Given the description of an element on the screen output the (x, y) to click on. 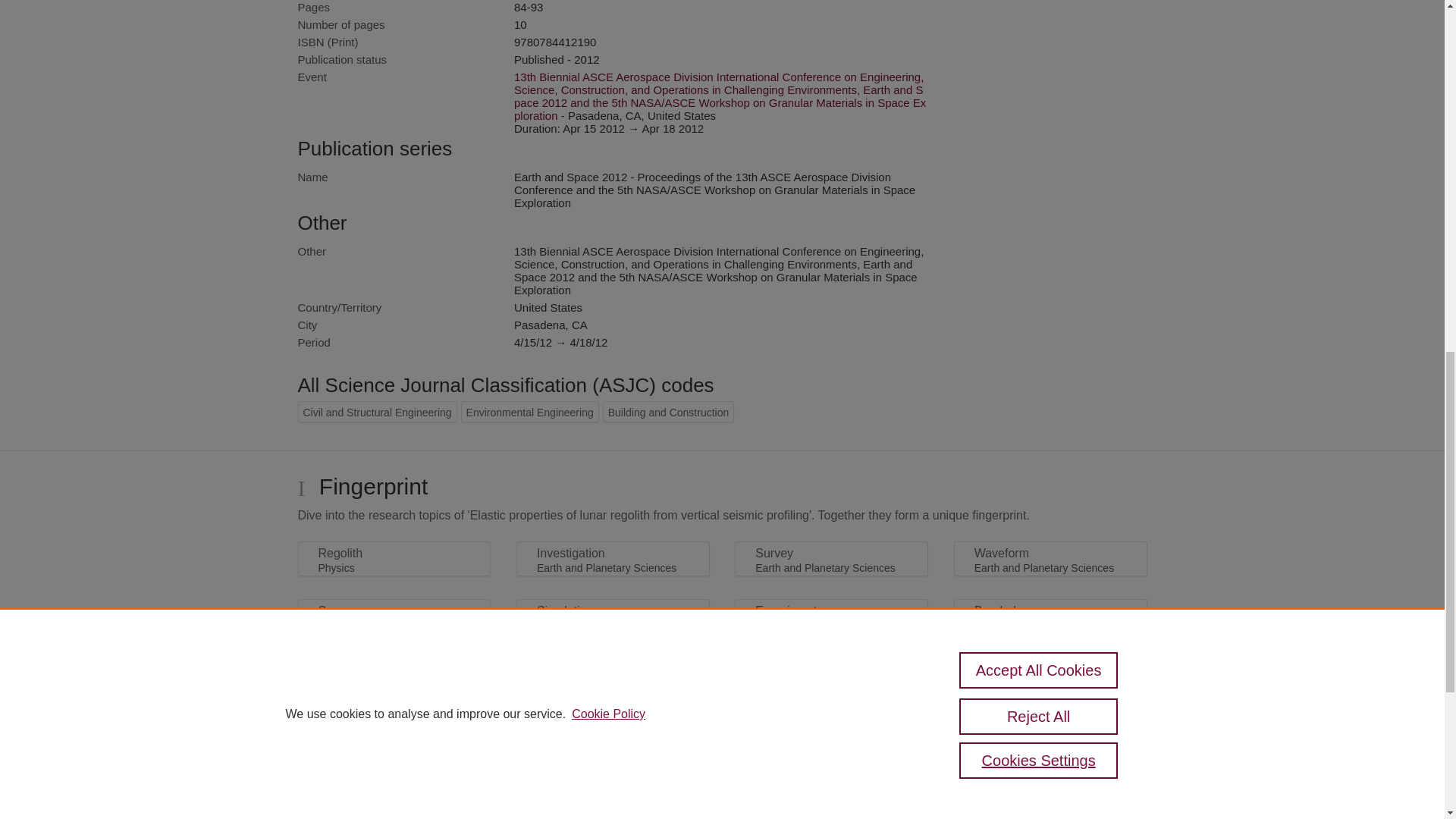
View full fingerprint (722, 664)
